Given the description of an element on the screen output the (x, y) to click on. 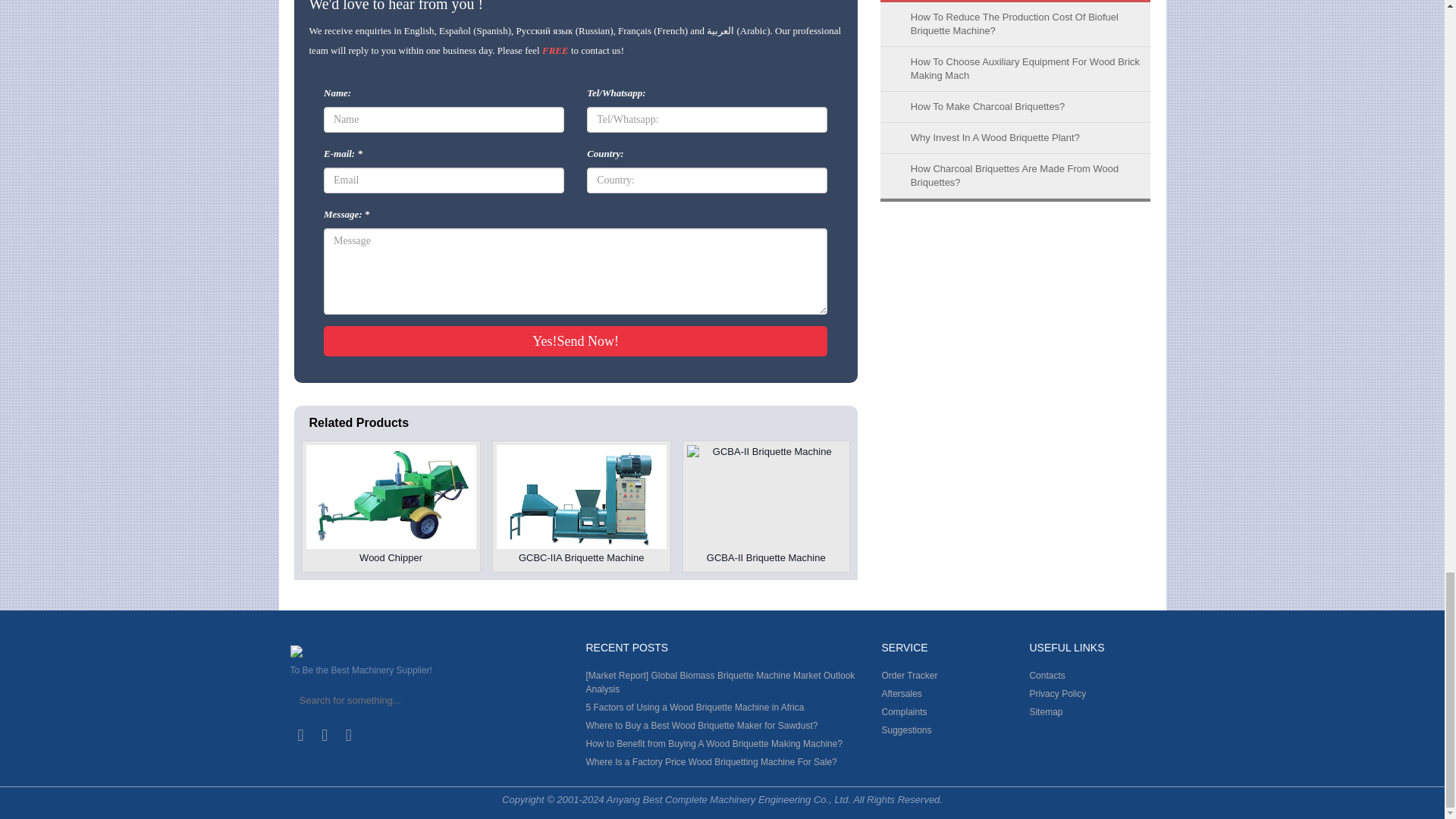
Yes!Send Now! (575, 340)
Wood Chipper (390, 506)
GCBA-II Briquette Machine (766, 506)
GCBC-IIA Briquette Machine (581, 506)
Yes!Send Now! (575, 340)
